Given the description of an element on the screen output the (x, y) to click on. 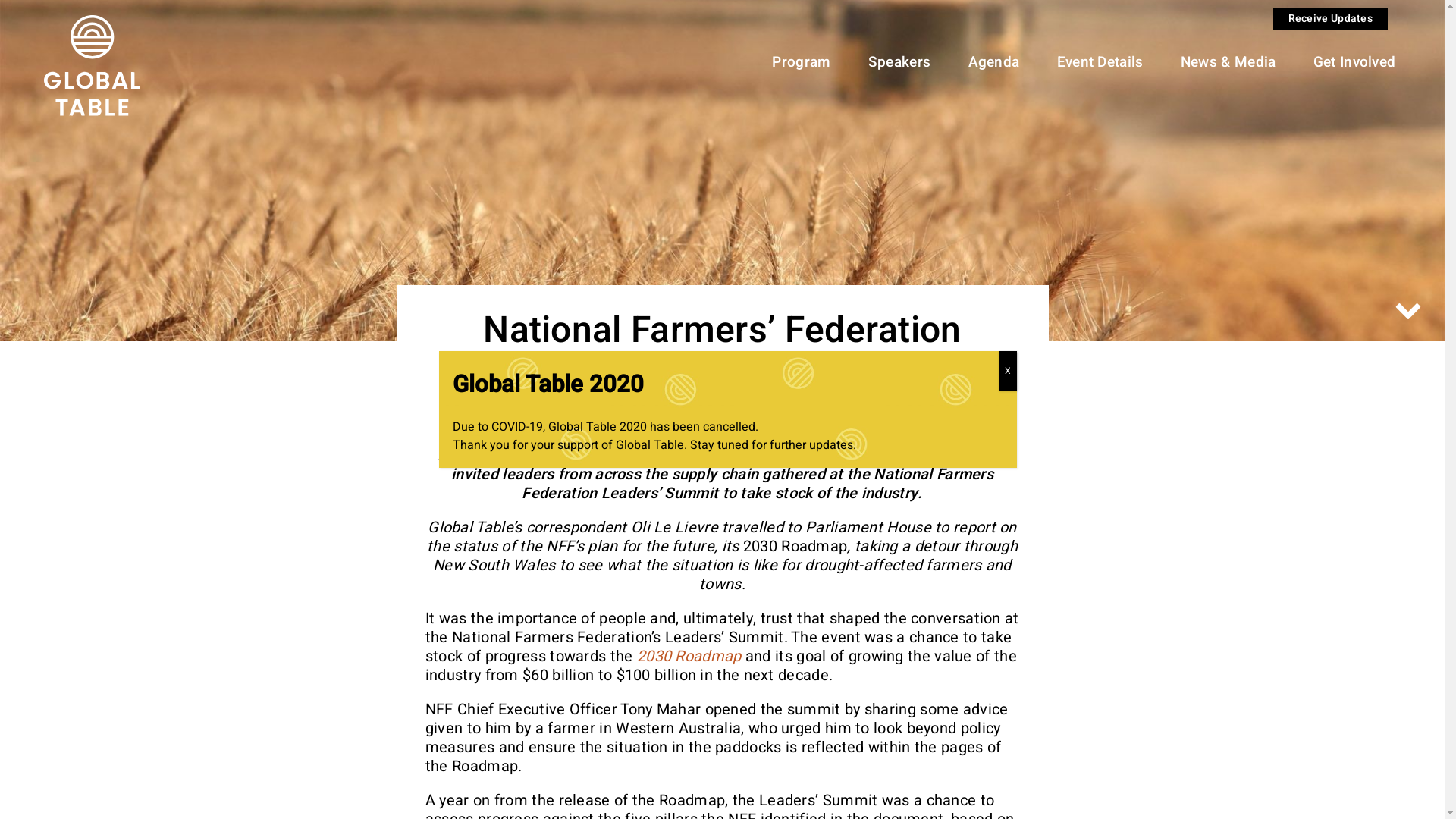
Seeds & Chips Element type: hover (760, 709)
Program Element type: text (801, 62)
Twitter Element type: text (955, 546)
LinkedIn Element type: text (955, 511)
Receive Updates Element type: text (1329, 18)
Terms & Conditions Element type: text (480, 511)
Australian Trade and Investment Commission Element type: hover (937, 709)
X Element type: text (1007, 370)
News & Media Element type: text (1228, 62)
Agenda Element type: text (993, 62)
Victoria Element type: hover (626, 709)
Event Details Element type: text (1100, 62)
Sign Up Element type: text (652, 519)
Food & Wine Victoria Element type: hover (518, 709)
Facebook Element type: text (955, 614)
2030 Roadmap Element type: text (689, 656)
Privacy Policy Element type: text (467, 530)
Speakers Element type: text (899, 62)
Instagram Element type: text (955, 580)
info@live.globaltable.com.au Element type: text (349, 530)
Get Involved Element type: text (1354, 62)
Media Enquiry Element type: text (652, 559)
